Given the description of an element on the screen output the (x, y) to click on. 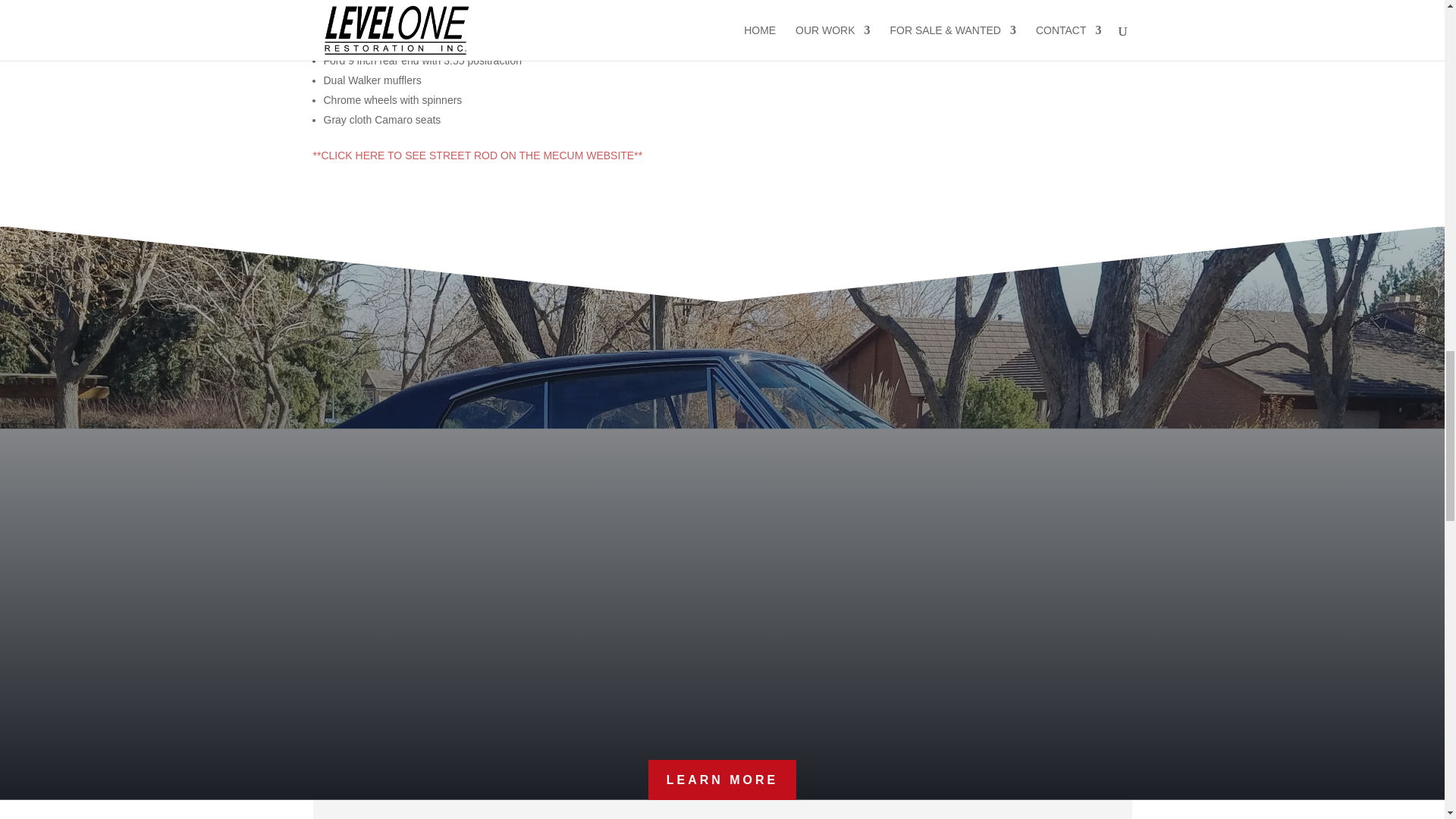
LEARN MORE (721, 780)
